Given the description of an element on the screen output the (x, y) to click on. 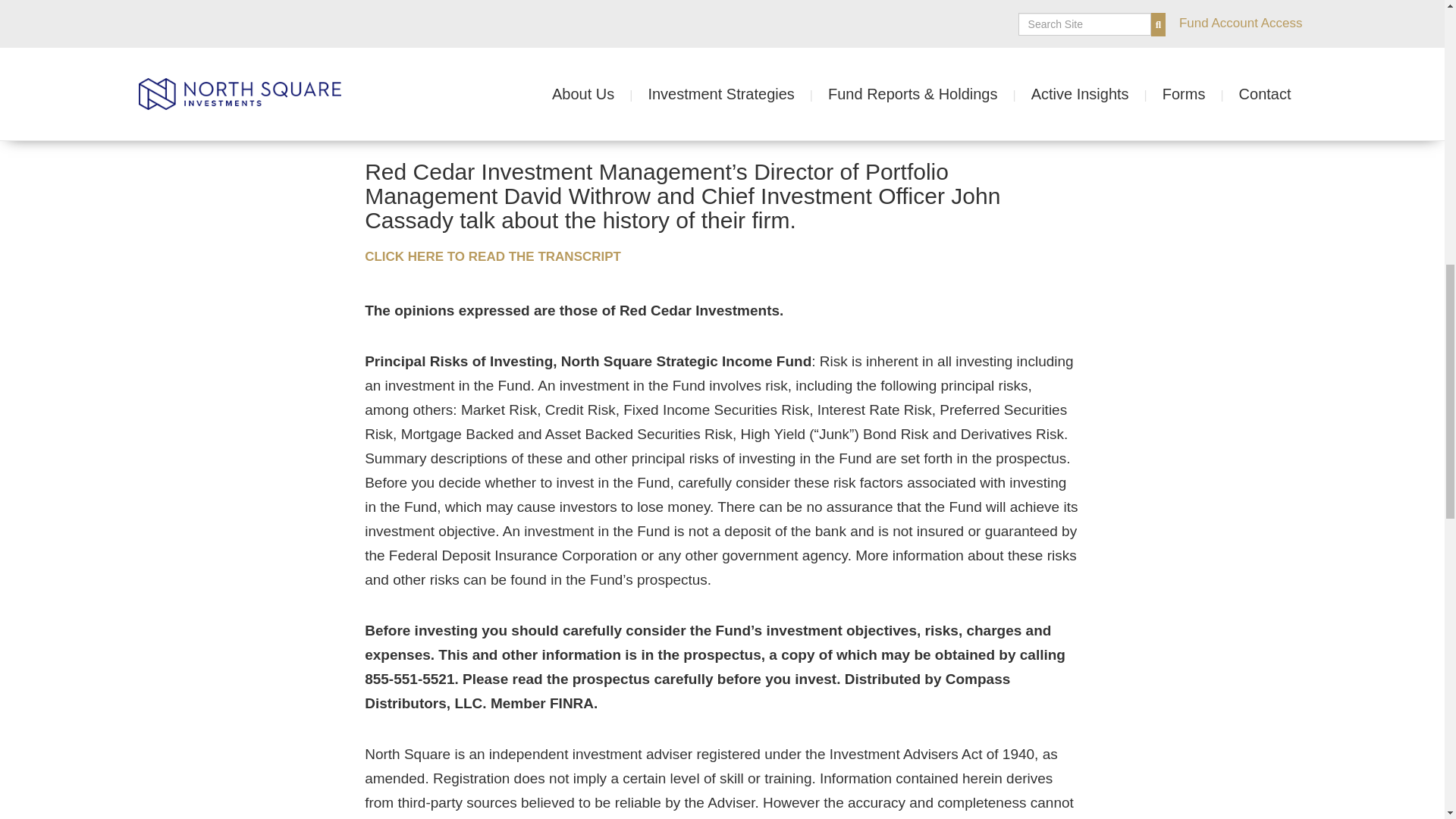
YouTube video player (722, 23)
CLICK HERE TO READ THE TRANSCRIPT (505, 256)
